Given the description of an element on the screen output the (x, y) to click on. 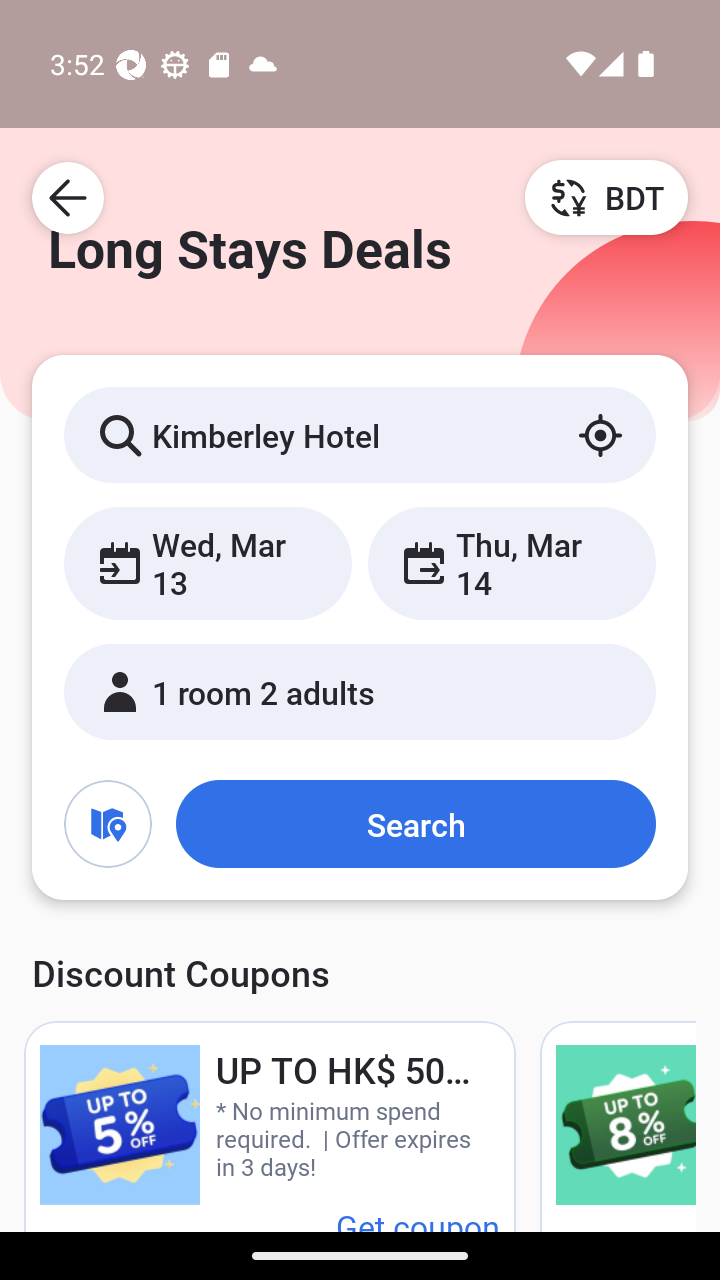
BDT (606, 197)
Kimberley Hotel (359, 434)
Wed, Mar 13 (208, 562)
Thu, Mar 14 (511, 562)
1 room 2 adults (359, 691)
Search (415, 823)
